Given the description of an element on the screen output the (x, y) to click on. 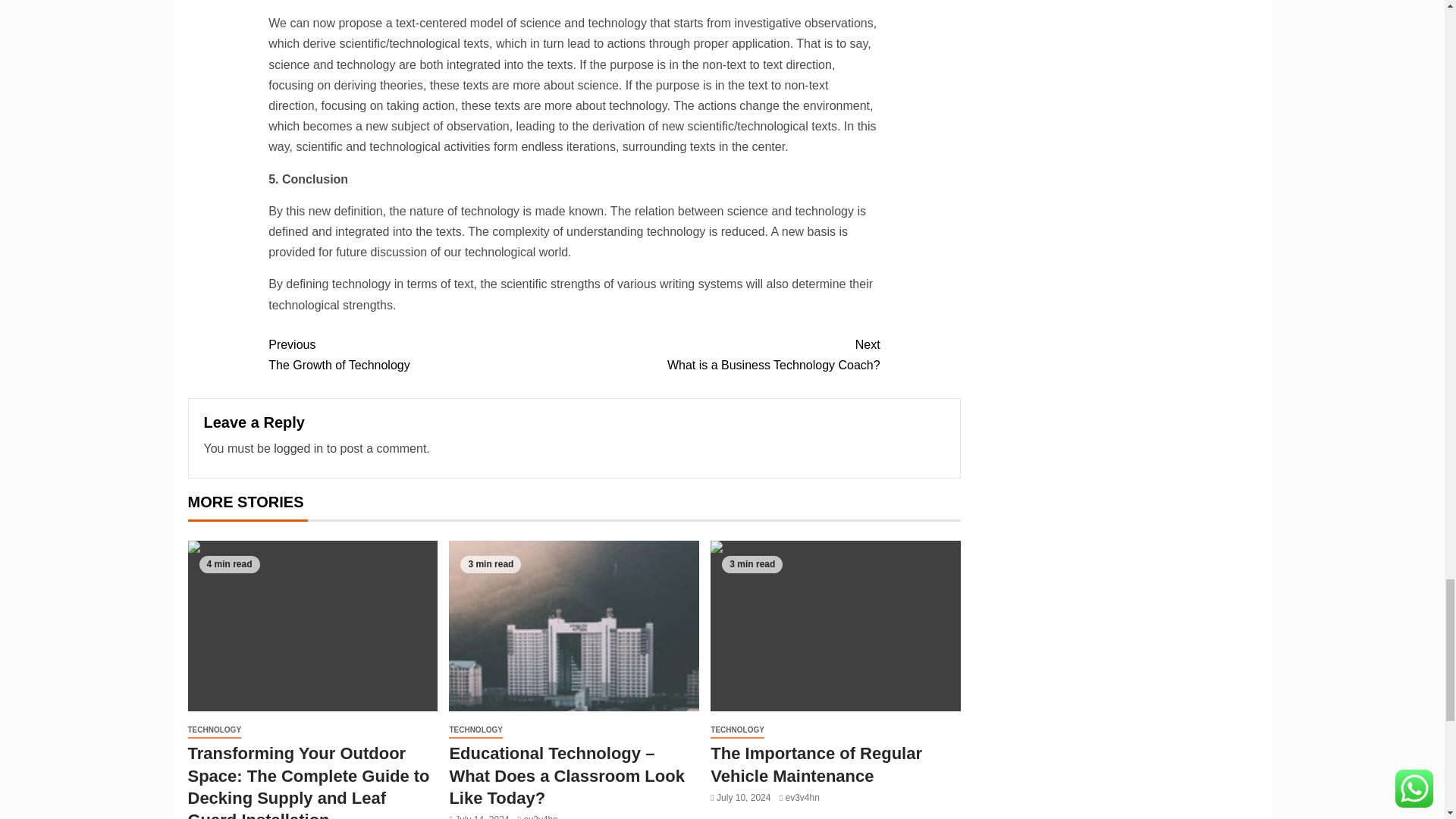
logged in (298, 448)
TECHNOLOGY (726, 354)
